Given the description of an element on the screen output the (x, y) to click on. 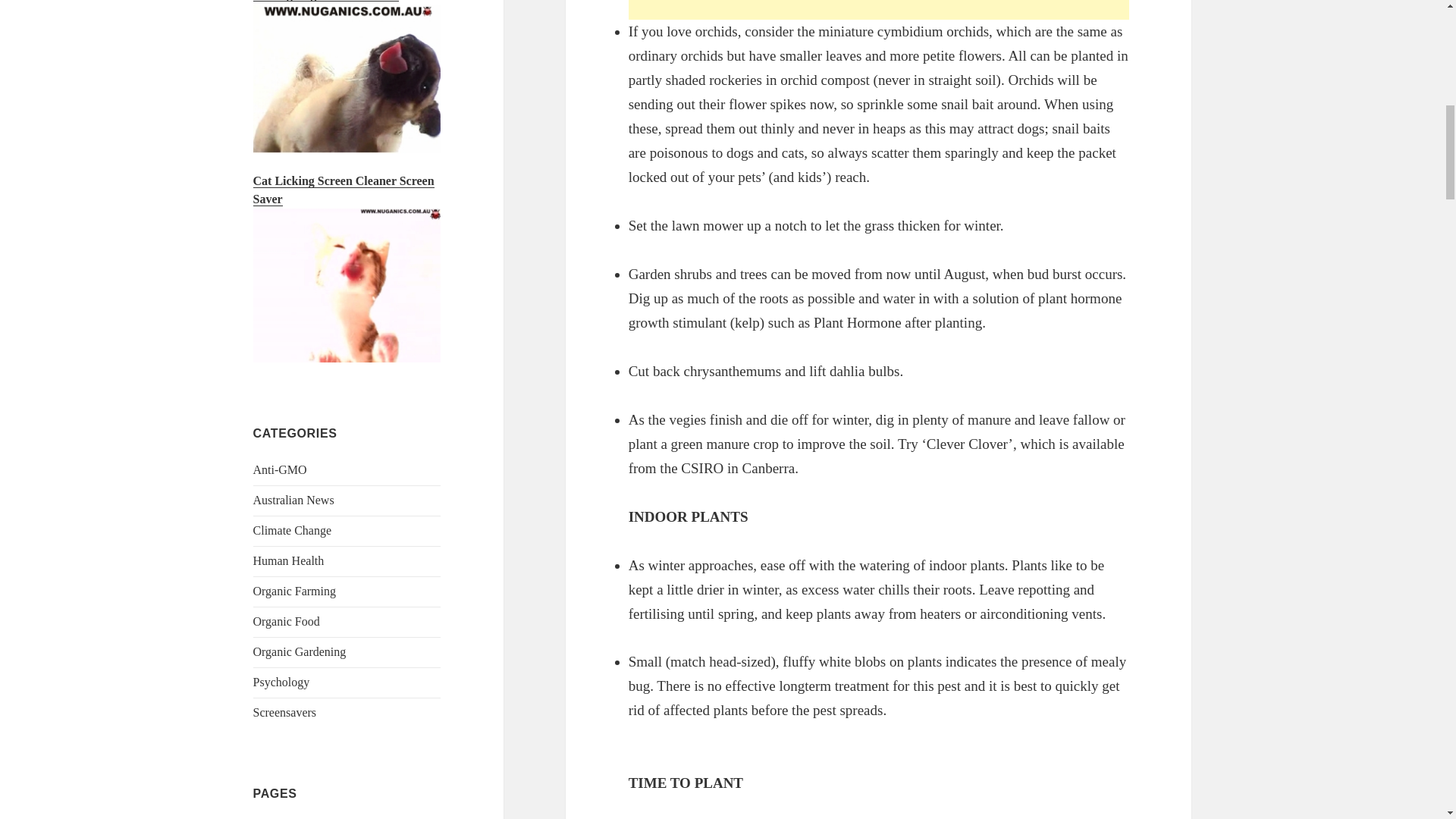
Organic Gardening (299, 651)
Australian News (293, 499)
Organic Food (286, 621)
Organic Farming (294, 590)
Psychology (281, 681)
Climate Change (292, 530)
Cat Licking Screen Cleaner Screen Saver (343, 190)
Anti-GMO (280, 469)
Human Health (288, 560)
